Given the description of an element on the screen output the (x, y) to click on. 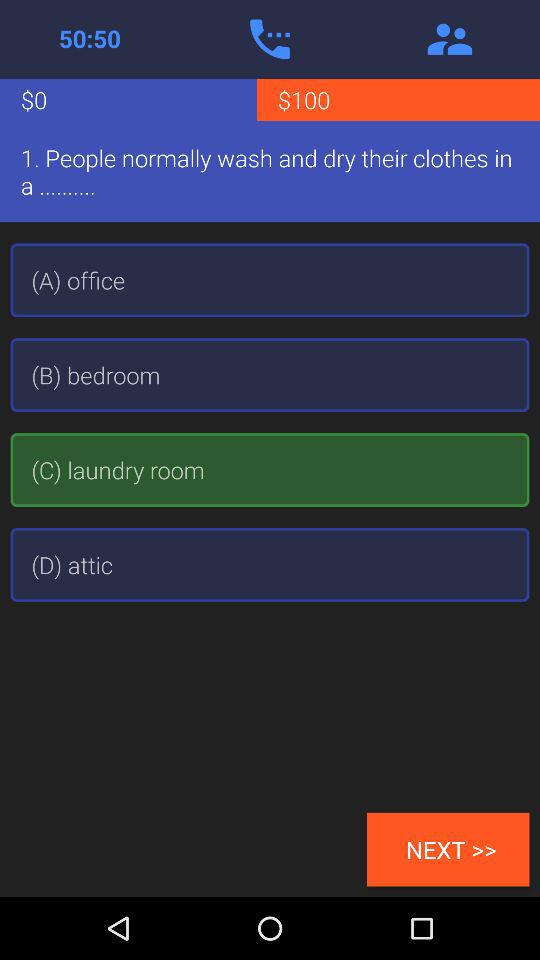
use the bonus 50:50 (90, 39)
